Given the description of an element on the screen output the (x, y) to click on. 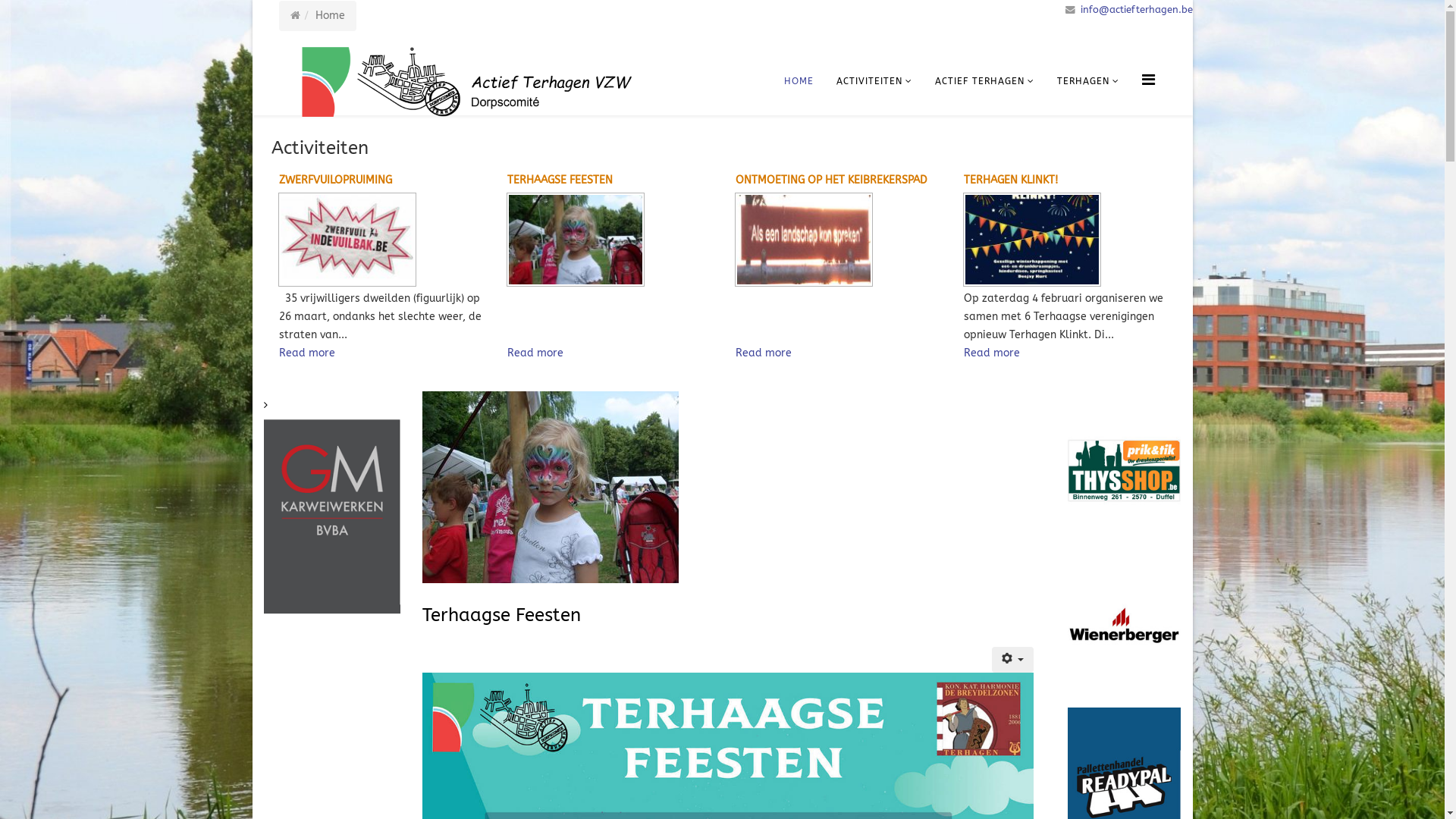
Read more Element type: text (763, 352)
Terhagen Klinkt! Element type: hover (1031, 239)
Thysshop Element type: hover (1123, 470)
Read more Element type: text (535, 352)
Read more Element type: text (307, 352)
TERHAAGSE FEESTEN Element type: text (559, 179)
ONTMOETING OP HET KEIBREKERSPAD Element type: text (831, 179)
TERHAGEN Element type: text (1086, 81)
Read more Element type: text (991, 352)
Zwerfvuilopruiming Element type: hover (347, 239)
HOME Element type: text (797, 81)
Wienerberger Element type: hover (1123, 628)
TERHAGEN KLINKT! Element type: text (1010, 179)
Wim Van Nunen Element type: hover (195, 507)
Terhaagse Feesten Element type: text (501, 614)
GM Karweiwerken Element type: hover (331, 502)
Ontmoeting op het Keibrekerspad Element type: hover (803, 239)
Ontmoeting op het Keibrekerspad Element type: hover (841, 239)
Terhagen Klinkt! Element type: hover (1069, 239)
ACTIEF TERHAGEN Element type: text (984, 81)
ACTIVITEITEN Element type: text (874, 81)
Terhaagse Feesten Element type: hover (613, 239)
Terhaagse Feesten Element type: hover (575, 239)
Zwerfvuilopruiming Element type: hover (385, 239)
Helix Megamenu Options Element type: hover (1148, 79)
ZWERFVUILOPRUIMING Element type: text (335, 179)
info@actiefterhagen.be Element type: text (1135, 9)
